Given the description of an element on the screen output the (x, y) to click on. 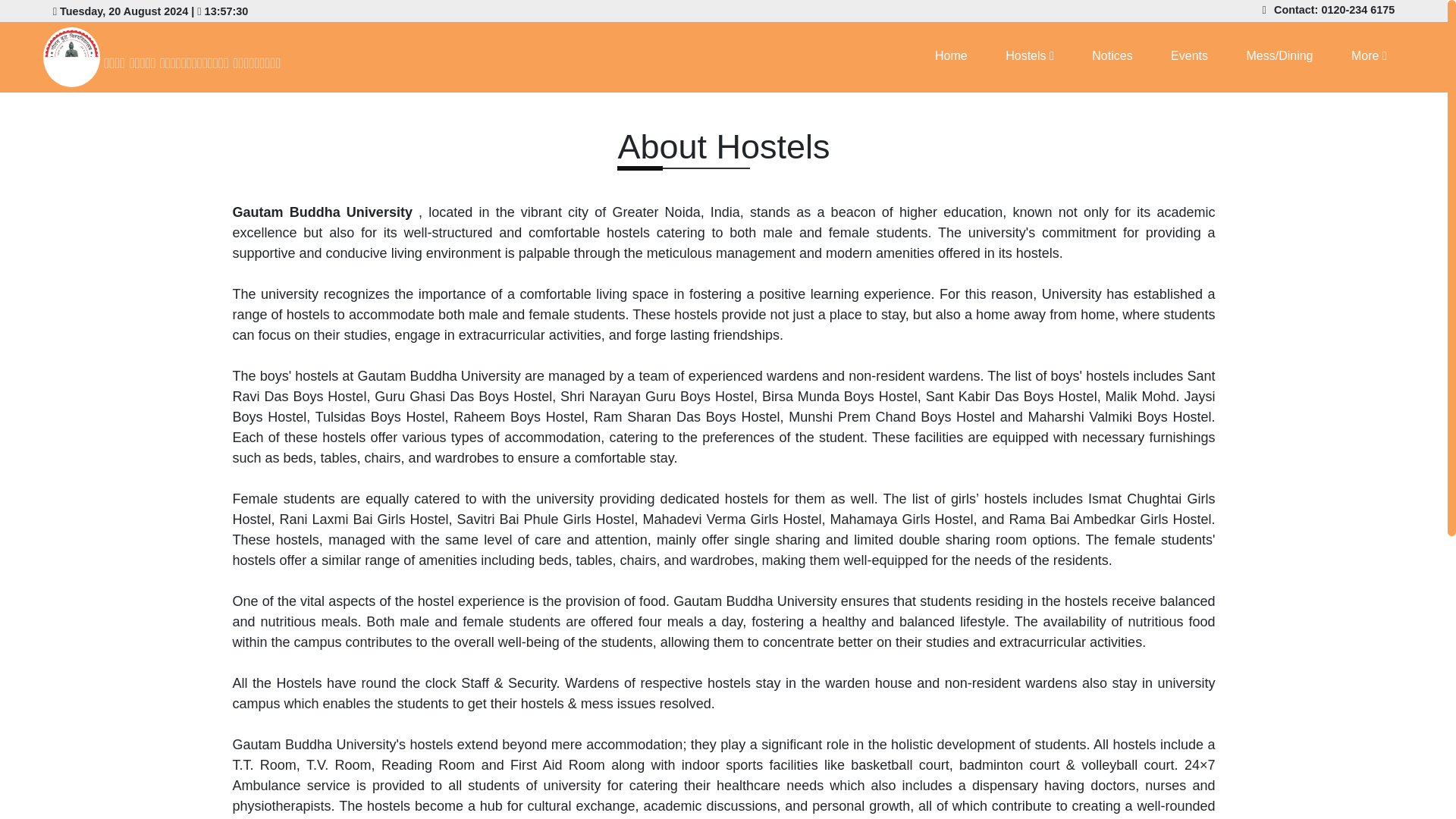
Events (1189, 55)
Notices (1112, 55)
Home (951, 55)
More (1369, 55)
Gautam Buddha University Hostels (225, 56)
Hostels (1030, 55)
